Given the description of an element on the screen output the (x, y) to click on. 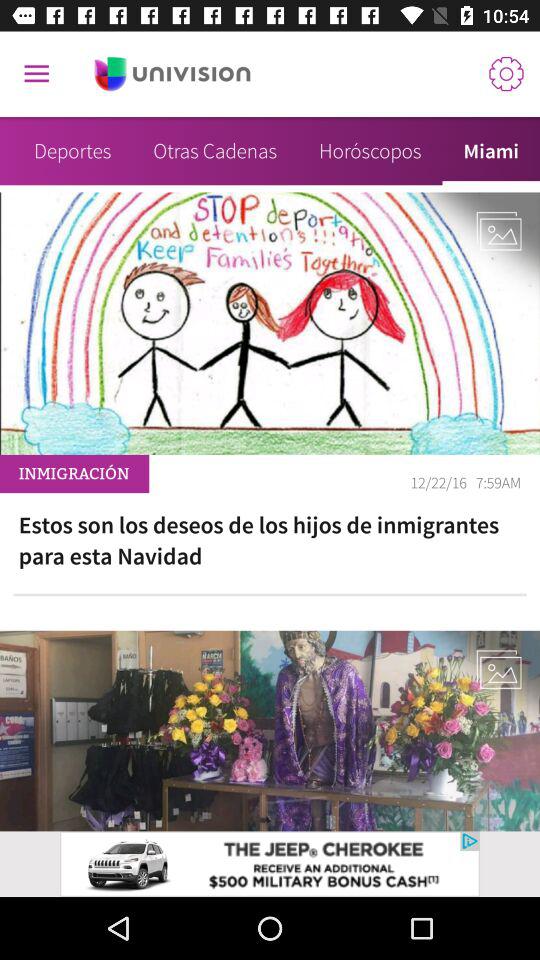
universon option (172, 73)
